Given the description of an element on the screen output the (x, y) to click on. 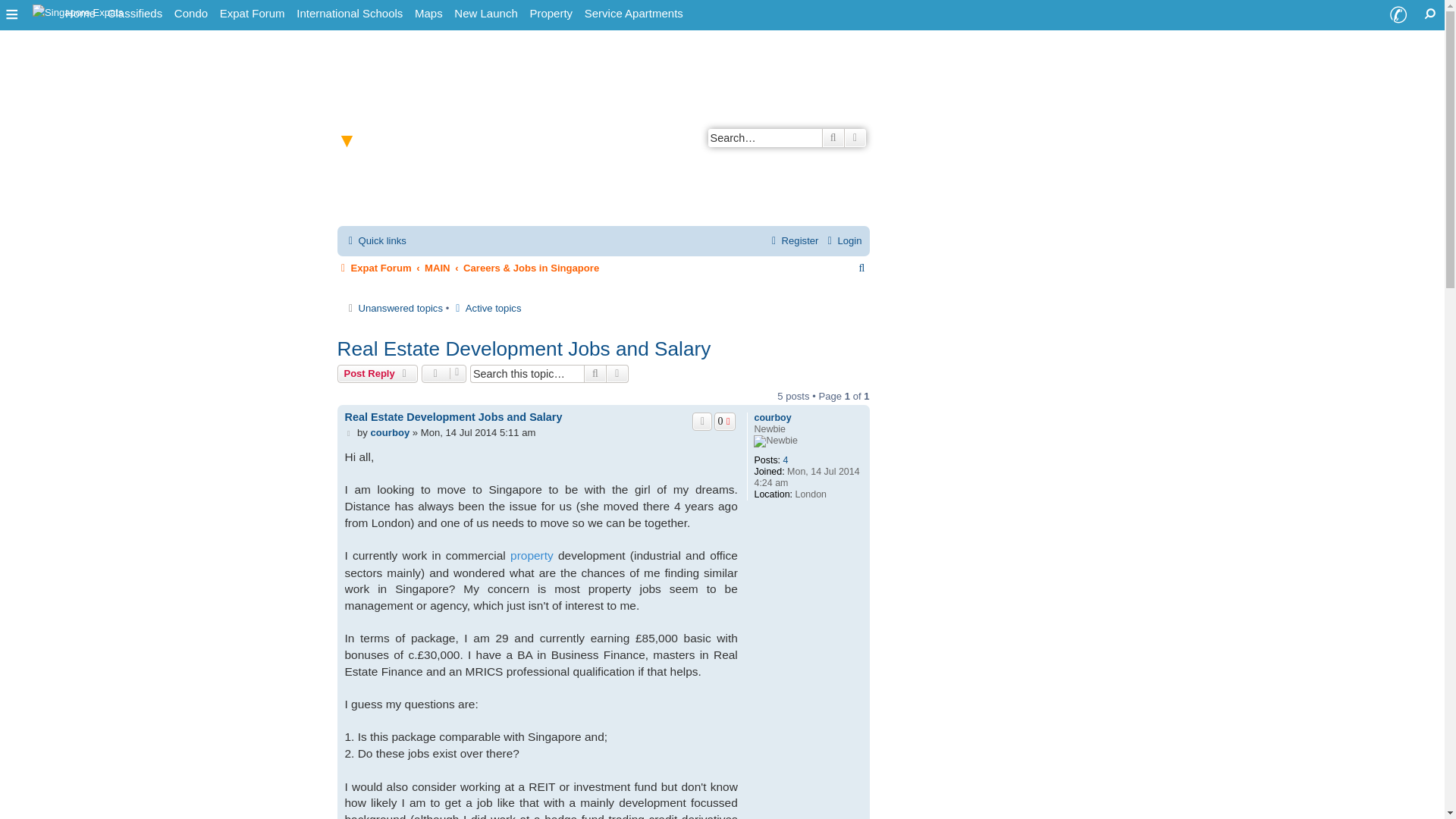
Condo (191, 13)
Expat Forum (252, 13)
Singapore Expats (78, 11)
New Property Launch (485, 13)
Singapore Service Apartments (633, 13)
Singapore Street Maps (428, 13)
Singapore International Schools (349, 13)
New Launch (485, 13)
Singapore Property (550, 13)
Maps (428, 13)
